Given the description of an element on the screen output the (x, y) to click on. 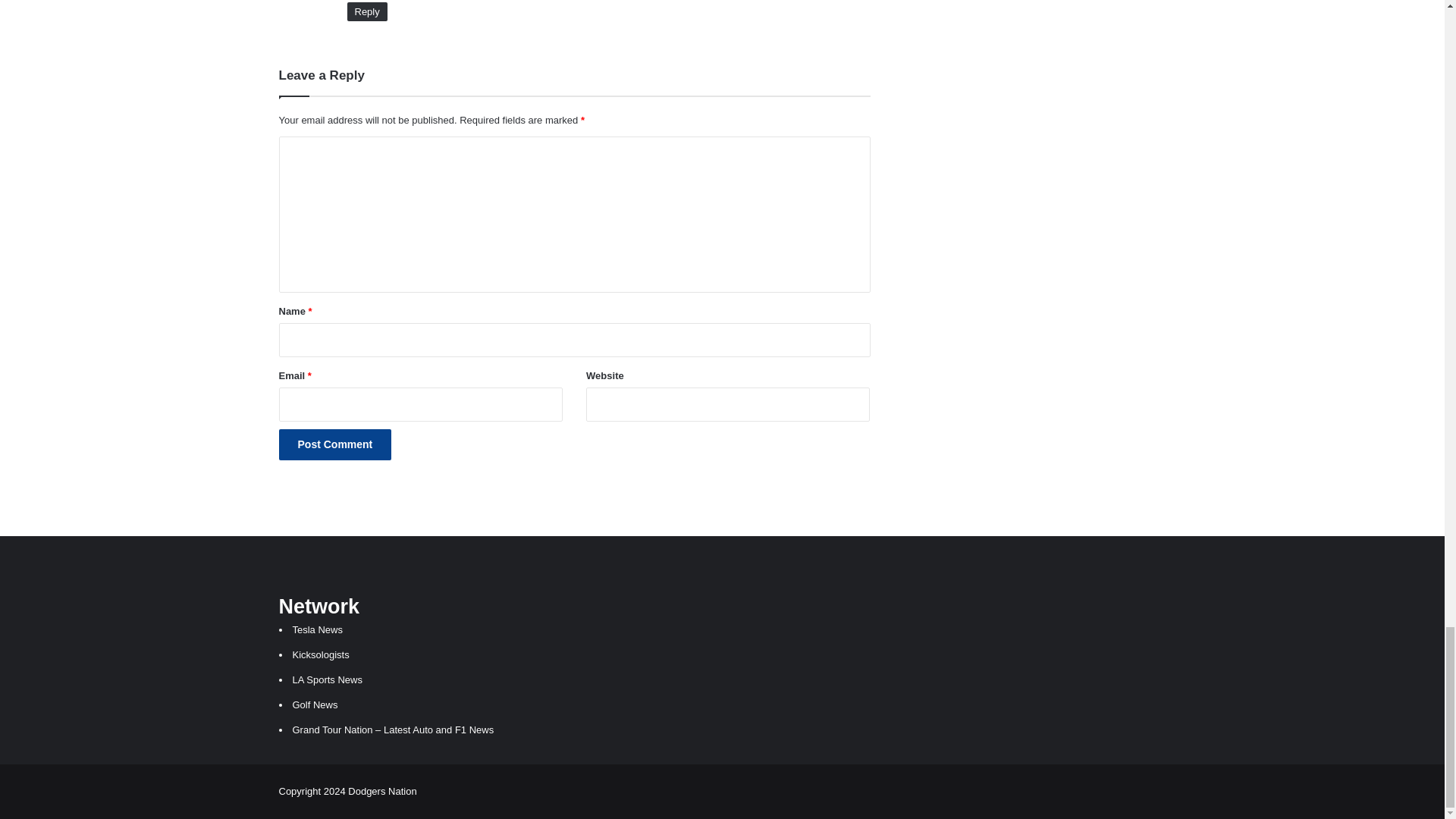
Post Comment (335, 444)
